Given the description of an element on the screen output the (x, y) to click on. 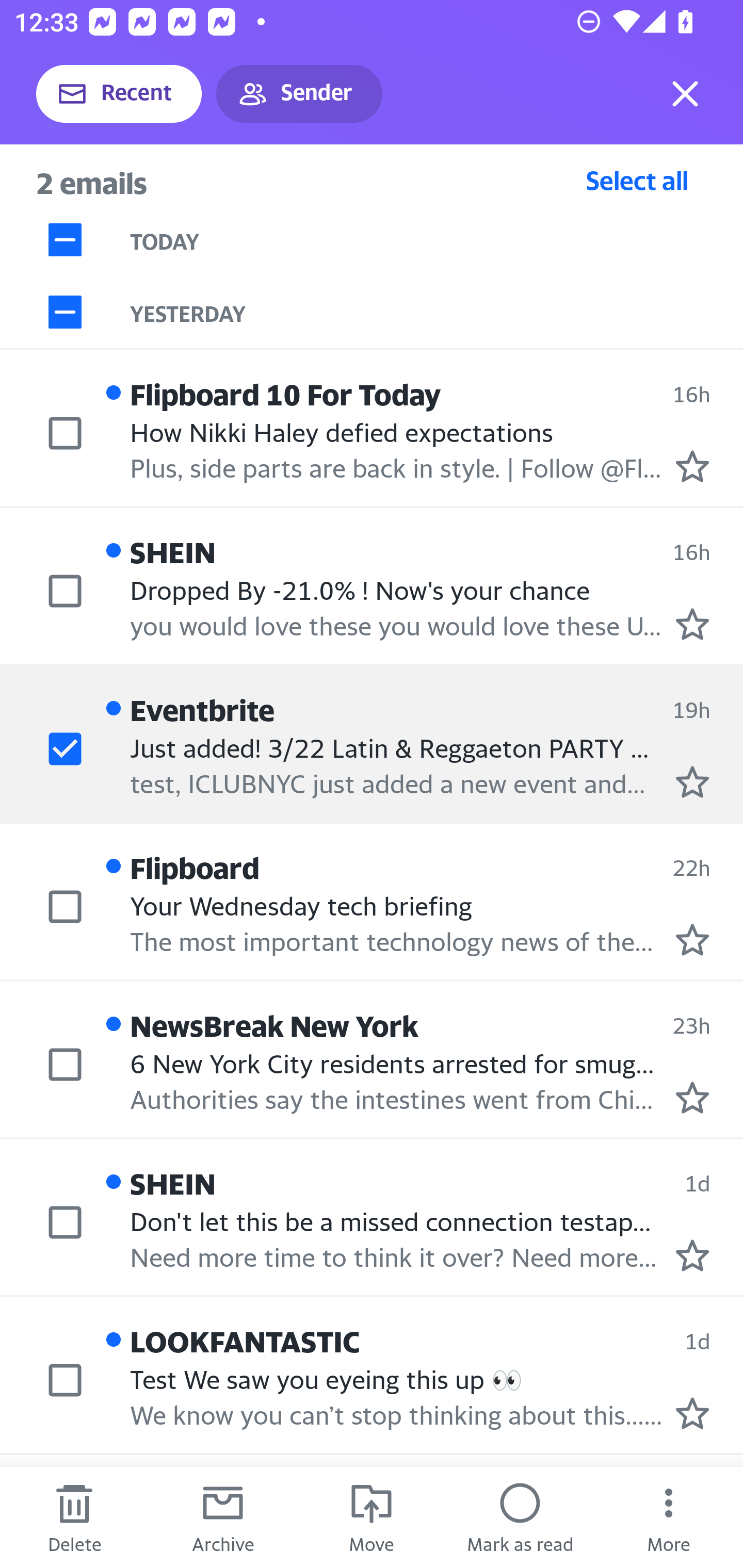
Sender (299, 93)
Exit selection mode (684, 93)
Select all (637, 180)
YESTERDAY (436, 311)
Mark as starred. (692, 466)
Mark as starred. (692, 624)
Mark as starred. (692, 781)
Mark as starred. (692, 939)
Mark as starred. (692, 1097)
Mark as starred. (692, 1255)
Mark as starred. (692, 1413)
Delete (74, 1517)
Archive (222, 1517)
Move (371, 1517)
Mark as read (519, 1517)
More (668, 1517)
